Given the description of an element on the screen output the (x, y) to click on. 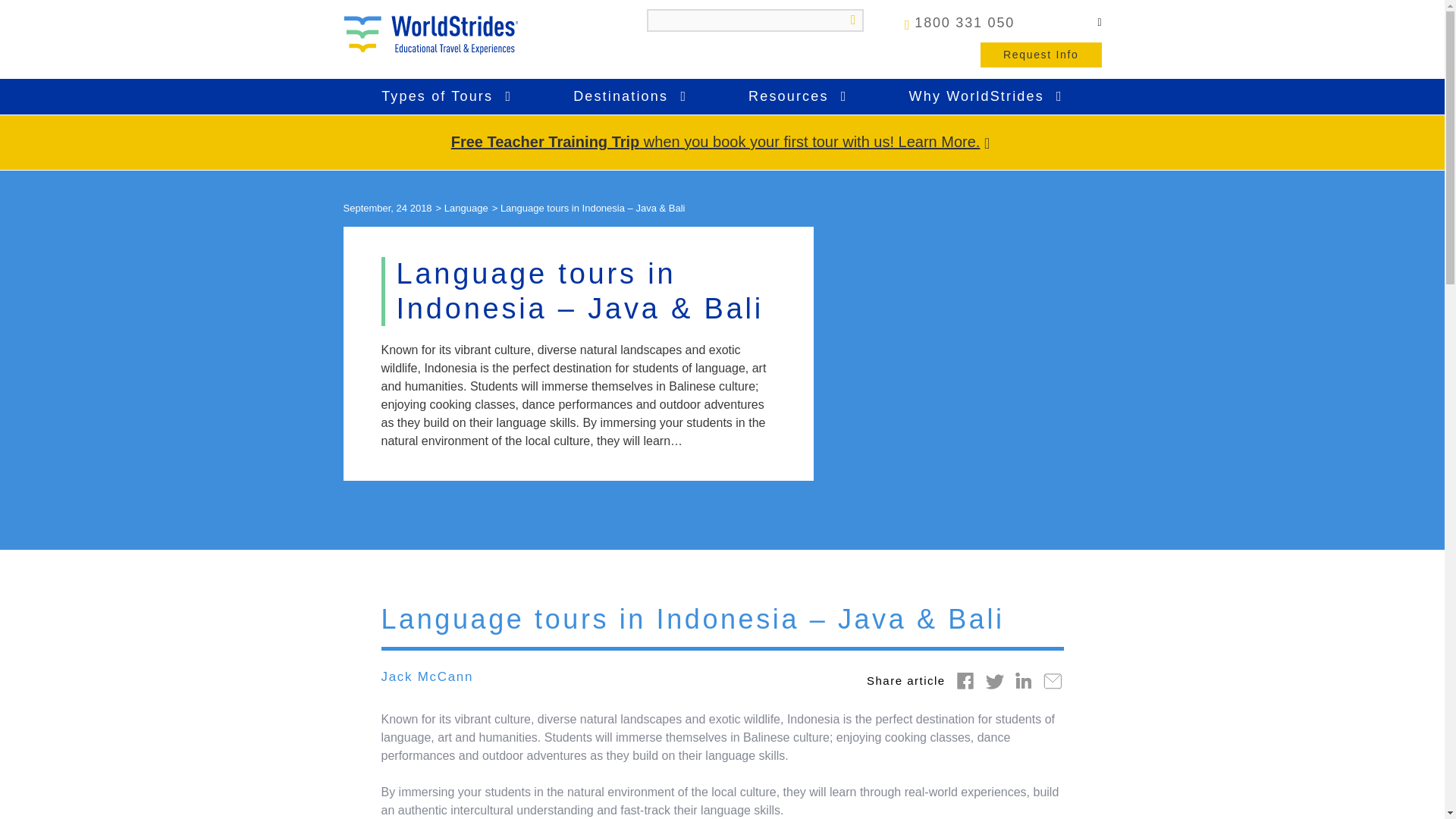
Why WorldStrides (985, 96)
Types of Tours (446, 96)
Share on Facebook (965, 679)
Search (847, 20)
Destinations (630, 96)
1800 331 050 (959, 22)
Resources (797, 96)
Request Info (1040, 54)
Share on Twitter (995, 679)
Share on Linkedin (1023, 679)
